Given the description of an element on the screen output the (x, y) to click on. 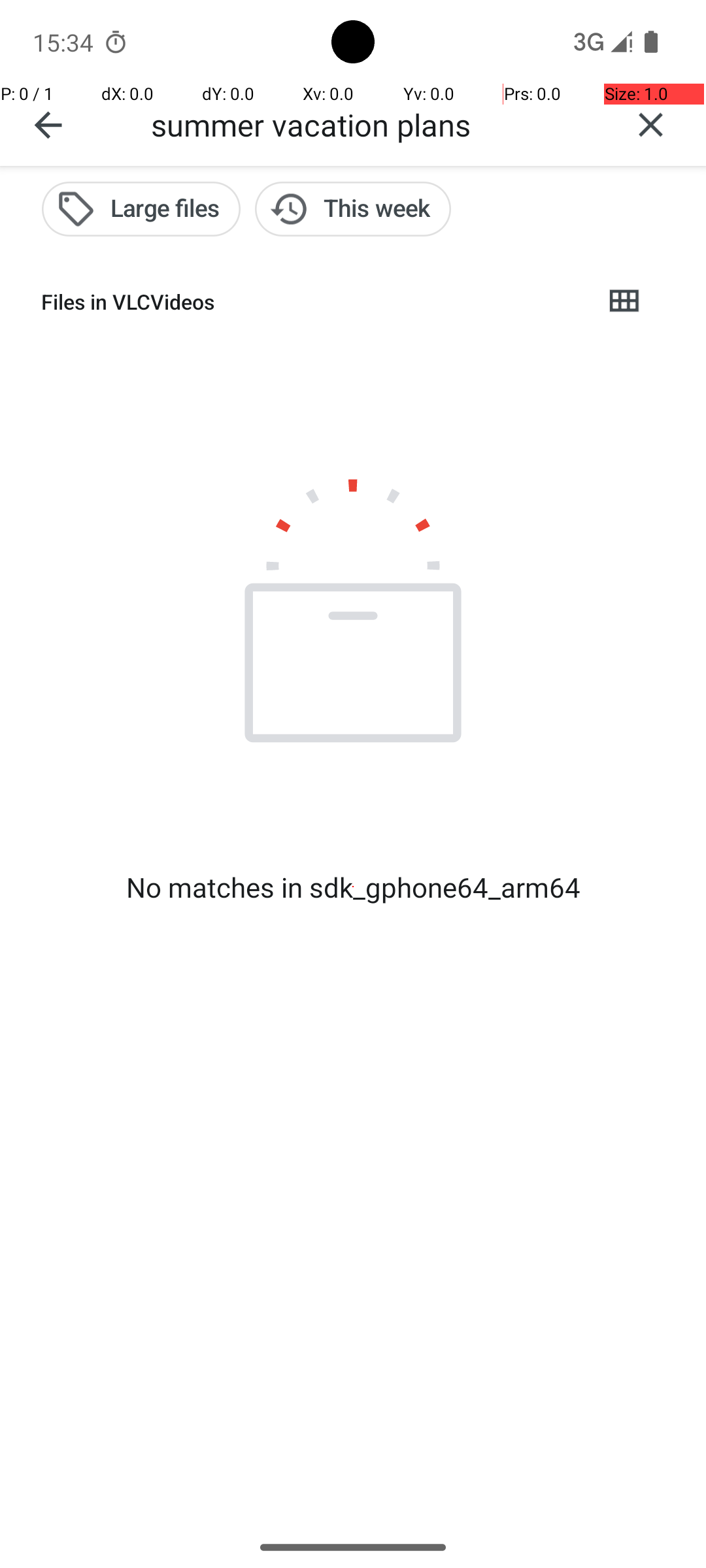
Files in VLCVideos Element type: android.widget.TextView (311, 301)
summer vacation plans Element type: android.widget.AutoCompleteTextView (373, 124)
No matches in sdk_gphone64_arm64 Element type: android.widget.TextView (353, 886)
